Given the description of an element on the screen output the (x, y) to click on. 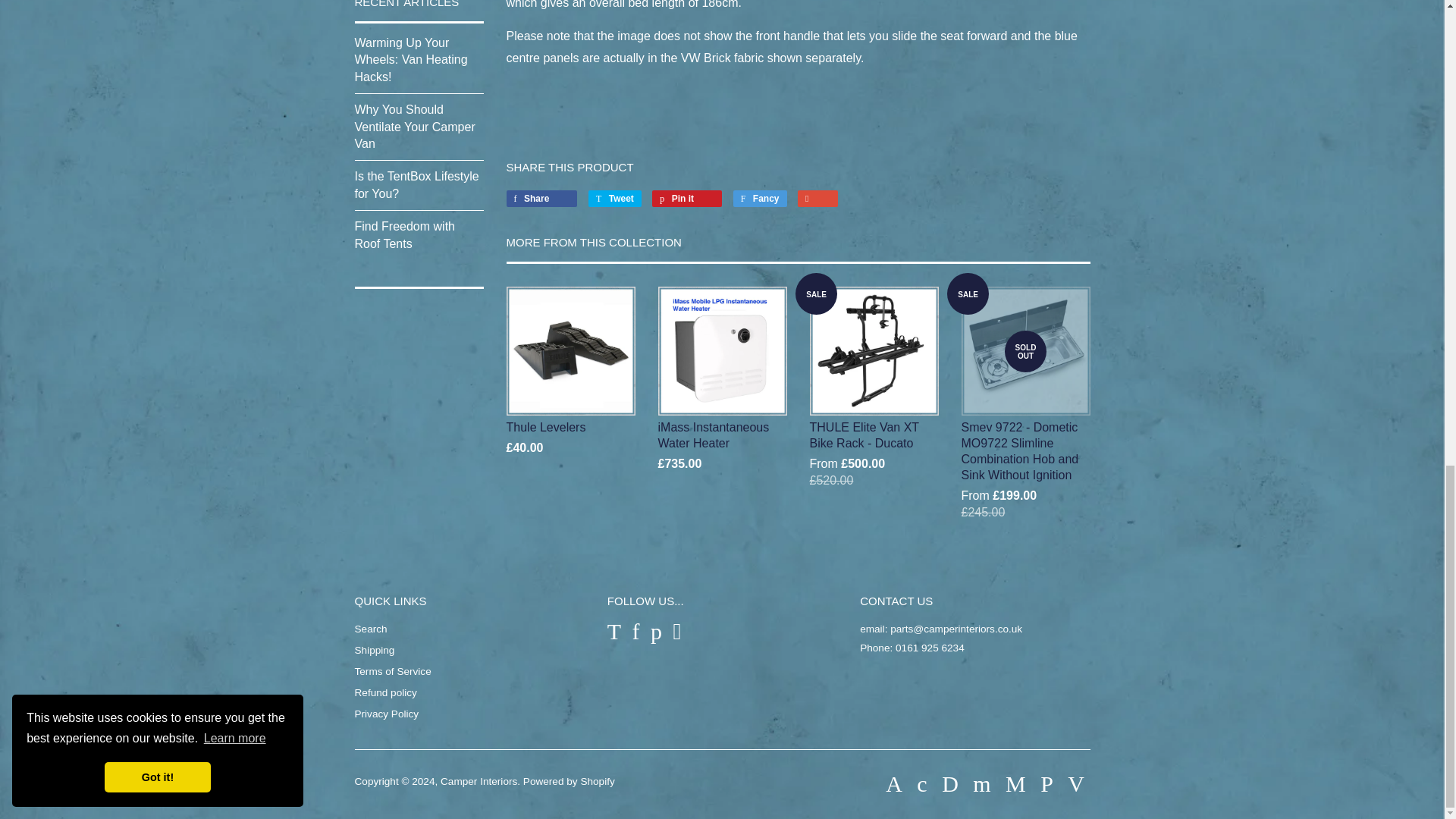
Add to Fancy (760, 198)
Pin on Pinterest (687, 198)
Camper Interiors on Twitter (614, 631)
Tweet on Twitter (615, 198)
Camper Interiors on Pinterest (656, 631)
Share on Facebook (542, 198)
